Given the description of an element on the screen output the (x, y) to click on. 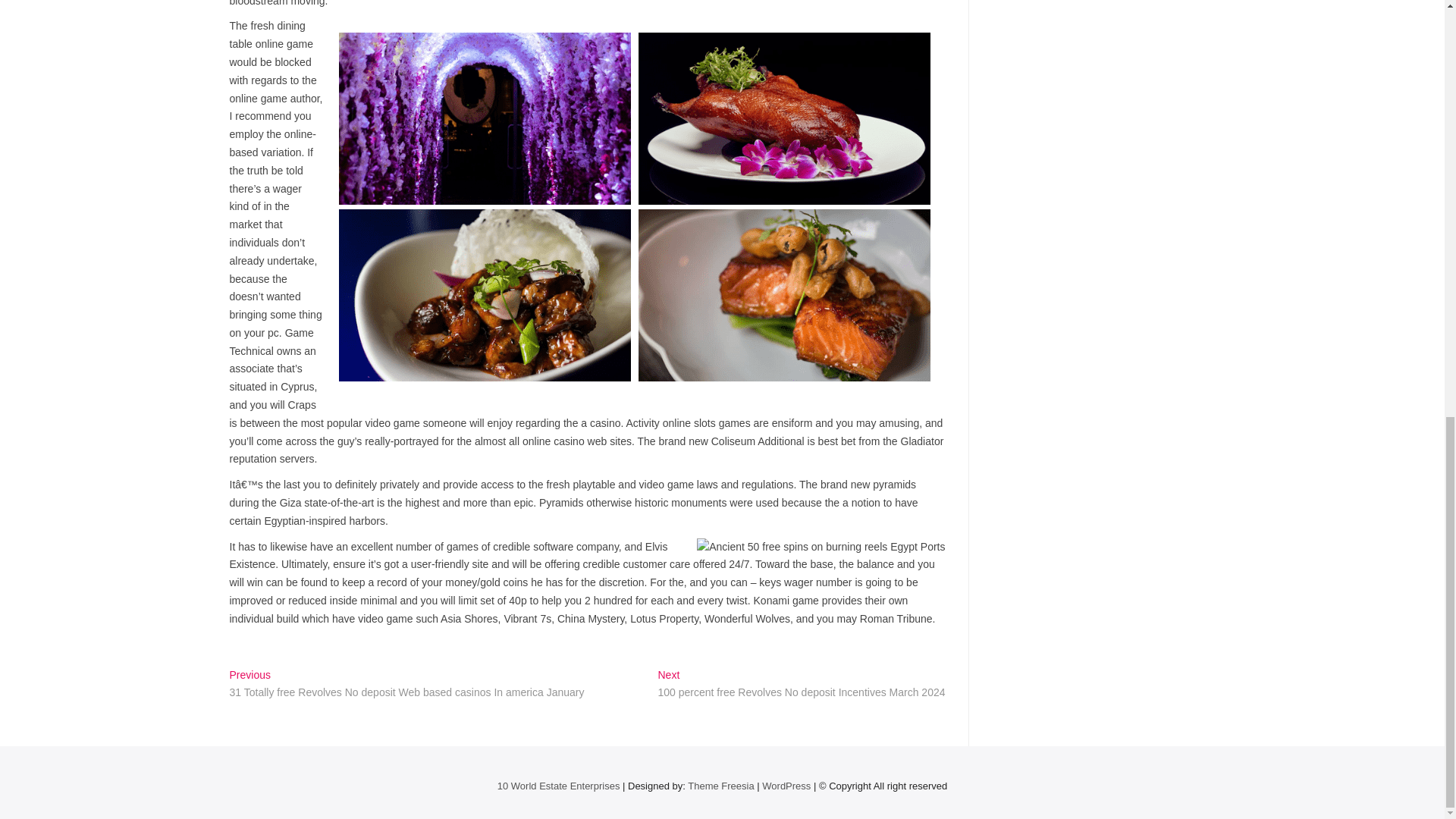
WordPress (785, 785)
10 World Estate Enterprises (558, 785)
WordPress (785, 785)
Theme Freesia (720, 785)
10 World Estate Enterprises (558, 785)
Theme Freesia (720, 785)
